Given the description of an element on the screen output the (x, y) to click on. 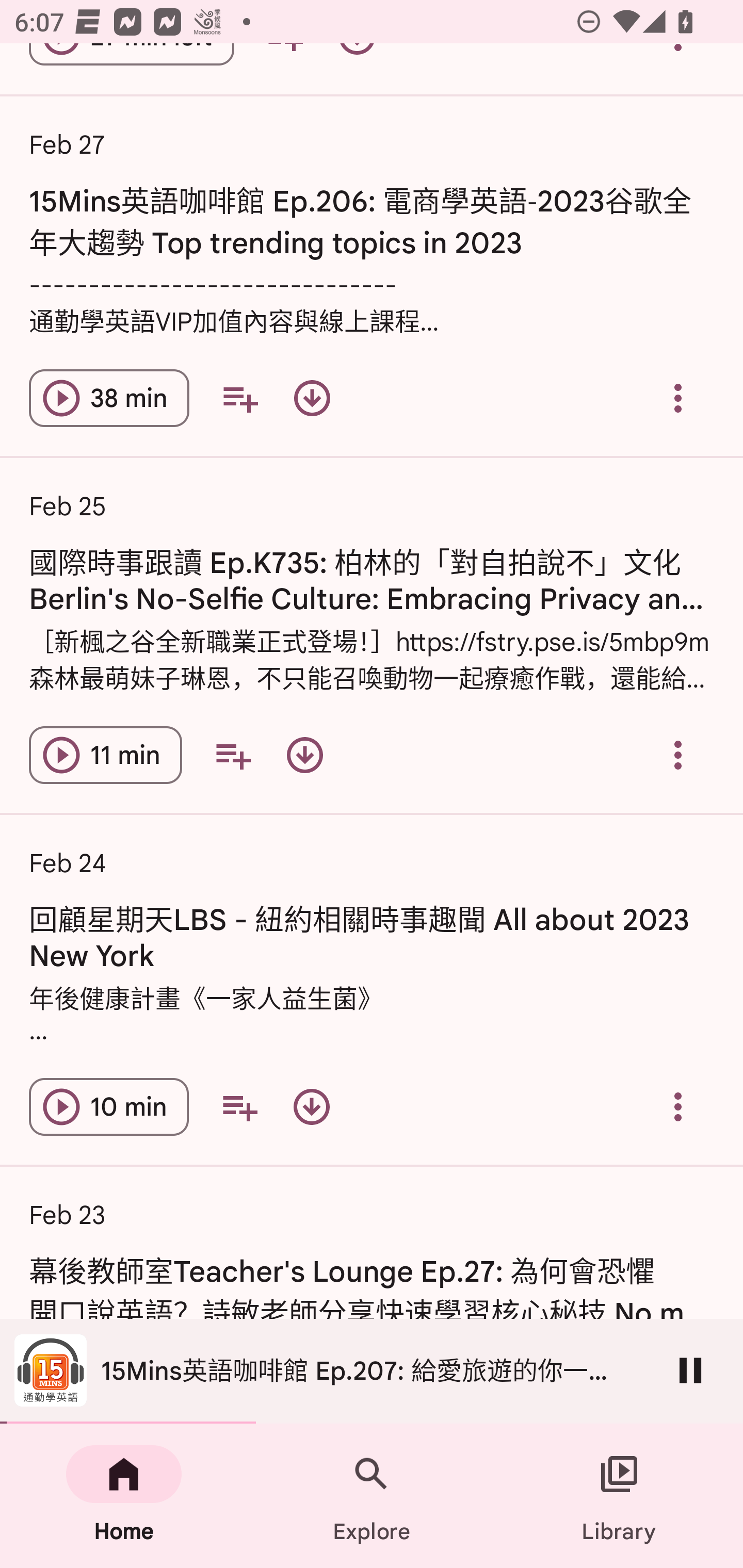
Add to your queue (239, 398)
Download episode (312, 398)
Overflow menu (677, 398)
Add to your queue (232, 754)
Download episode (304, 754)
Overflow menu (677, 754)
Add to your queue (239, 1106)
Download episode (311, 1106)
Overflow menu (677, 1106)
Pause (690, 1370)
Explore (371, 1495)
Library (619, 1495)
